Given the description of an element on the screen output the (x, y) to click on. 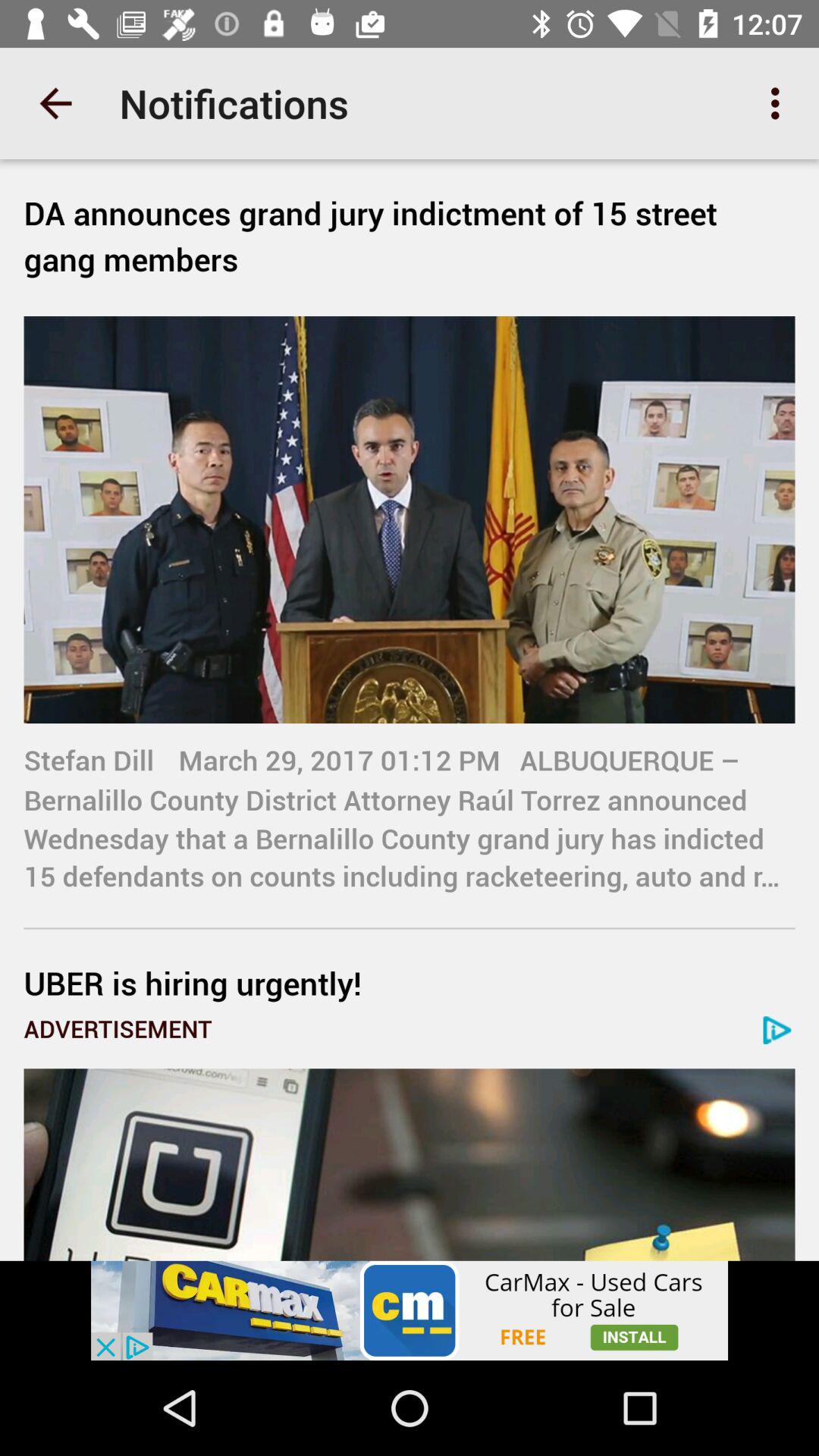
open advertisement (409, 1164)
